Given the description of an element on the screen output the (x, y) to click on. 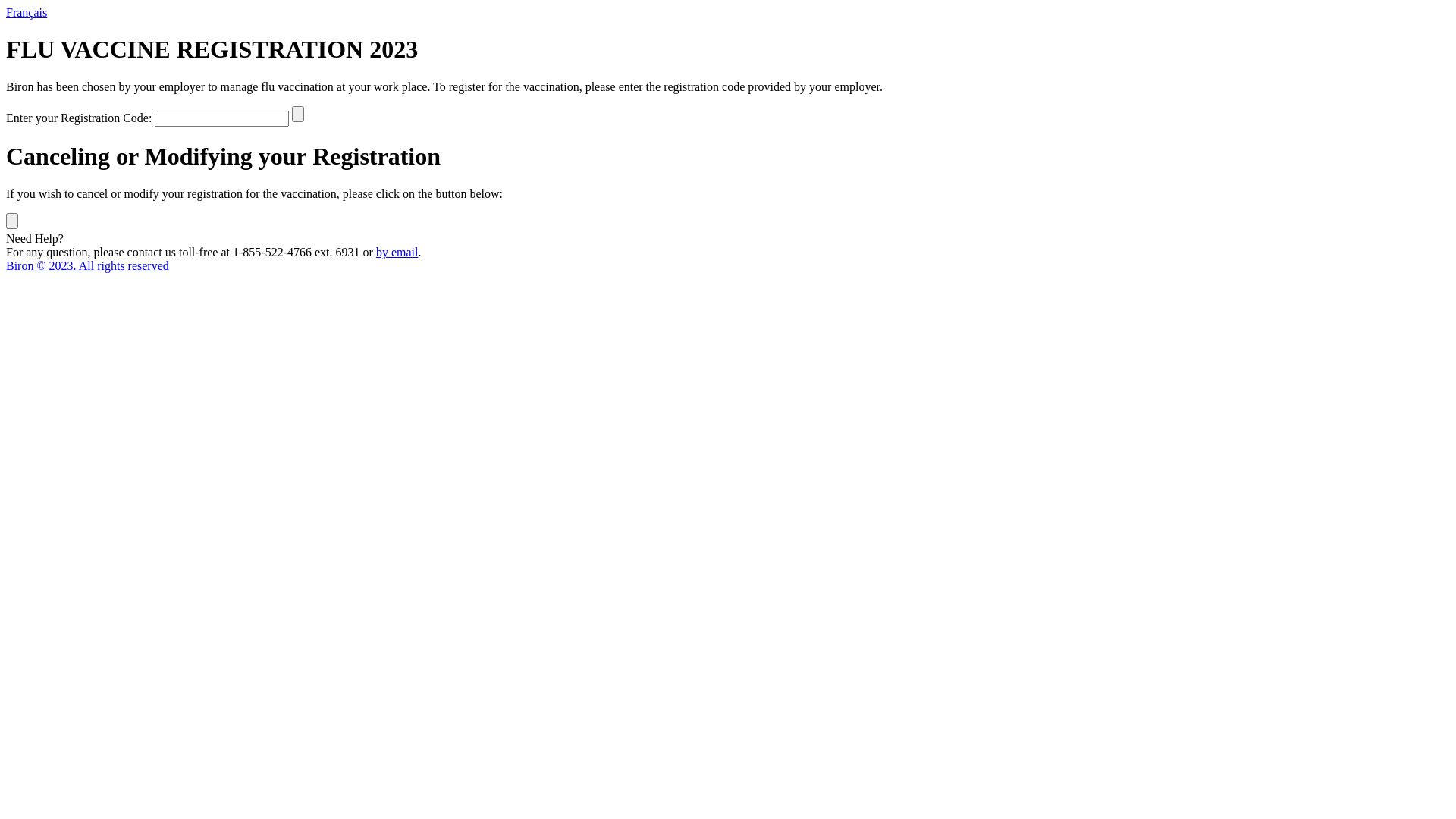
by email Element type: text (397, 251)
